Given the description of an element on the screen output the (x, y) to click on. 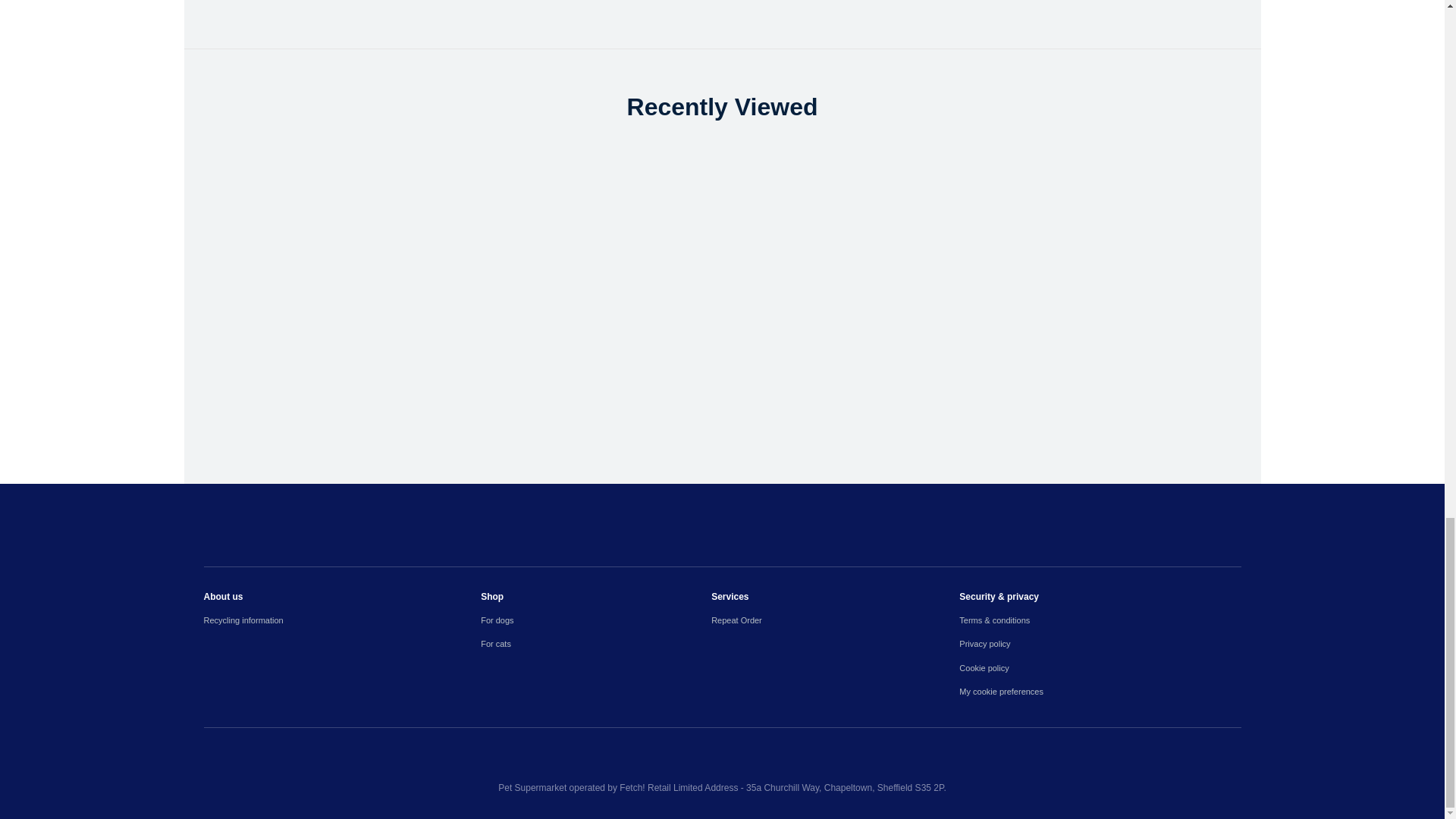
Cookie policy (1099, 667)
Repeat Order (835, 620)
For dogs (595, 620)
For cats (595, 644)
My cookie preferences (1099, 691)
Recycling information (341, 620)
Privacy policy (1099, 644)
